Given the description of an element on the screen output the (x, y) to click on. 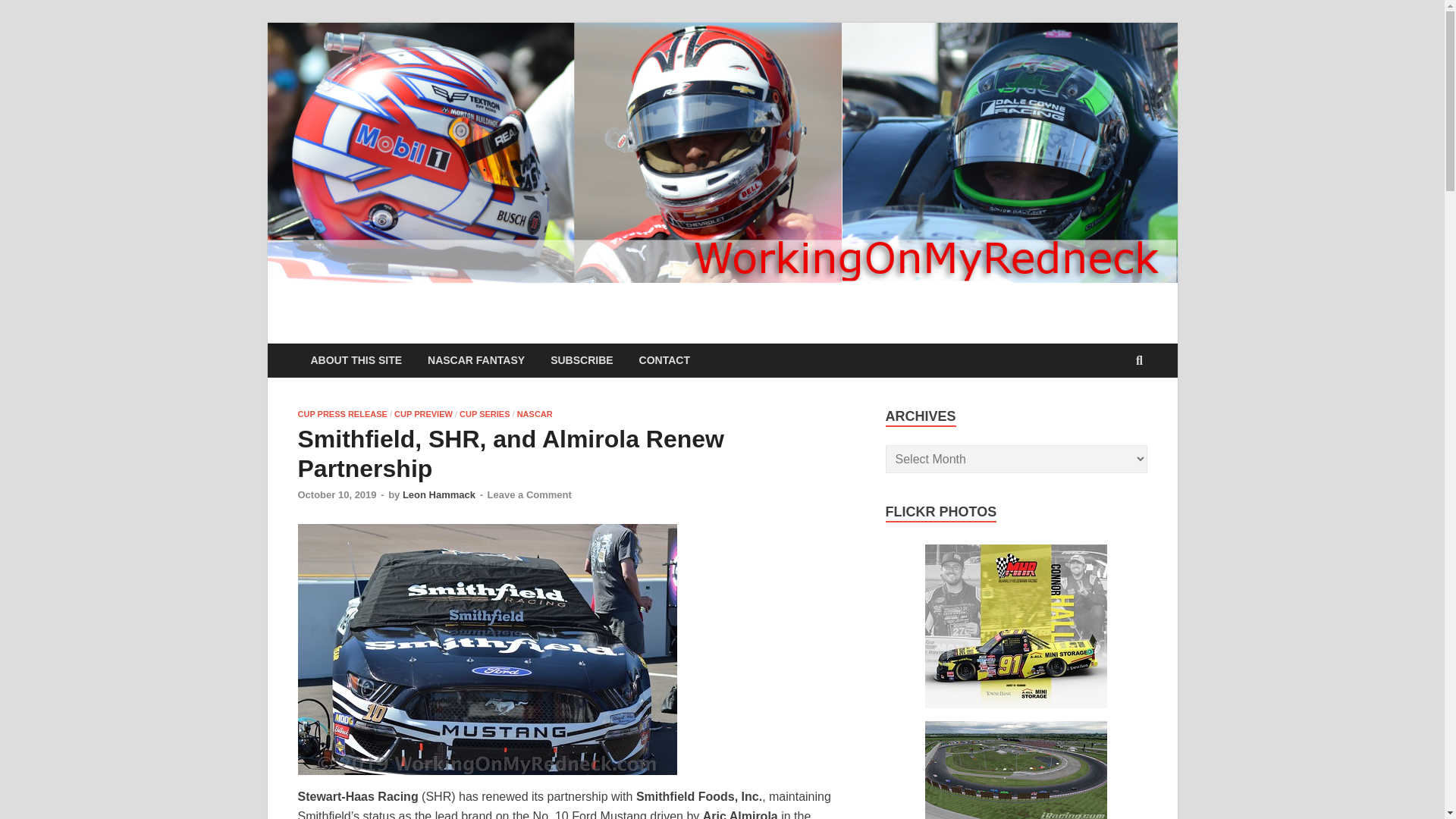
Leon Hammack (439, 494)
NASCAR FANTASY (475, 360)
CONTACT (664, 360)
October 10, 2019 (336, 494)
CUP SERIES (484, 413)
SUBSCRIBE (581, 360)
ABOUT THIS SITE (355, 360)
Leave a Comment (529, 494)
CUP PRESS RELEASE (342, 413)
NASCAR (534, 413)
